Given the description of an element on the screen output the (x, y) to click on. 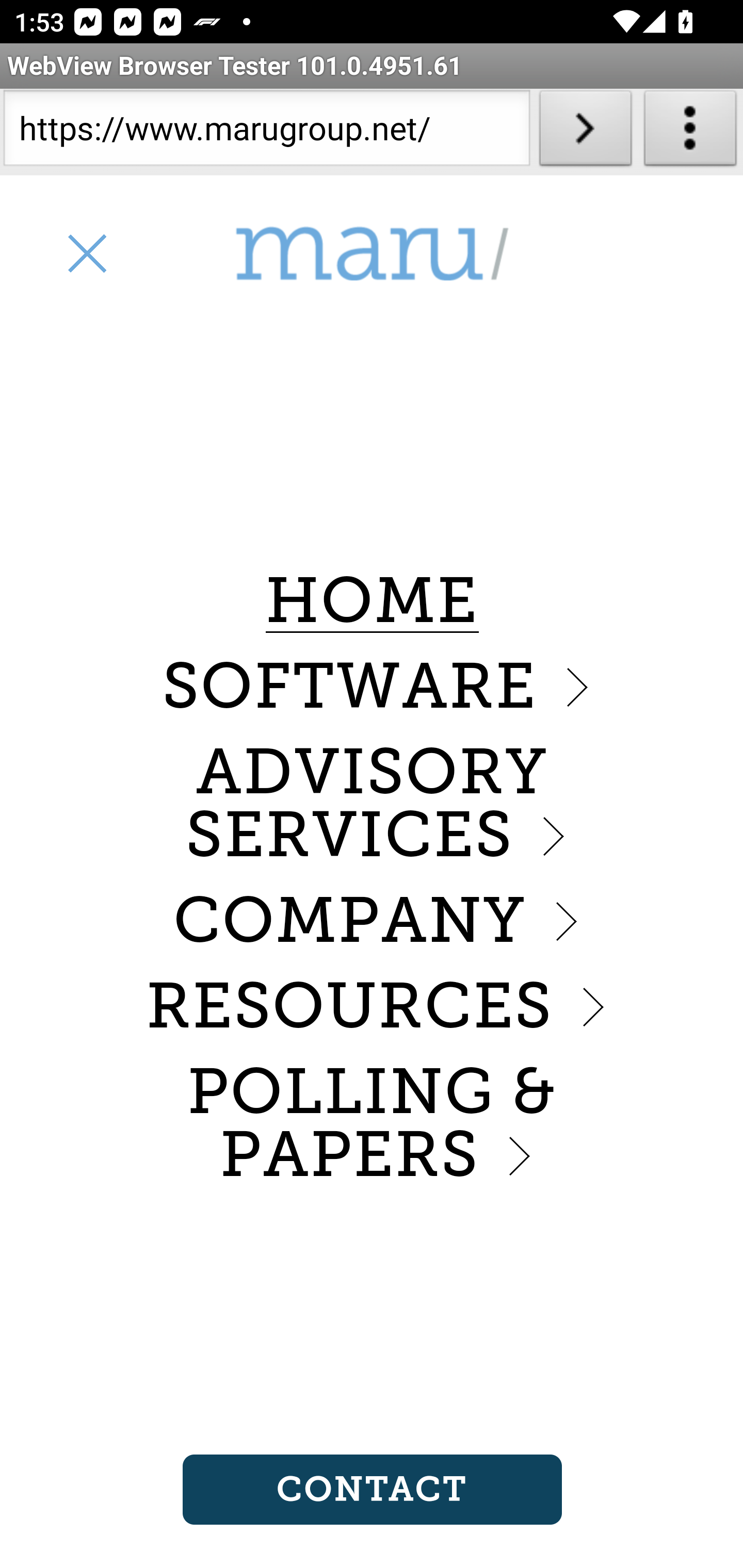
https://www.marugroup.net/ (266, 132)
Load URL (585, 132)
About WebView (690, 132)
Close Menu (86, 252)
Maru Group (371, 253)
HOME (372, 601)
FOLDER: SOFTWARE FOLDER:SOFTWARE (372, 685)
FOLDER: ADVISORY SERVICES FOLDER:ADVISORY SERVICES (372, 803)
FOLDER: COMPANY FOLDER:COMPANY (372, 920)
FOLDER: RESOURCES FOLDER:RESOURCES (372, 1006)
FOLDER: POLLING & PAPERS FOLDER:POLLING & PAPERS (372, 1123)
CONTACT (371, 1489)
